Given the description of an element on the screen output the (x, y) to click on. 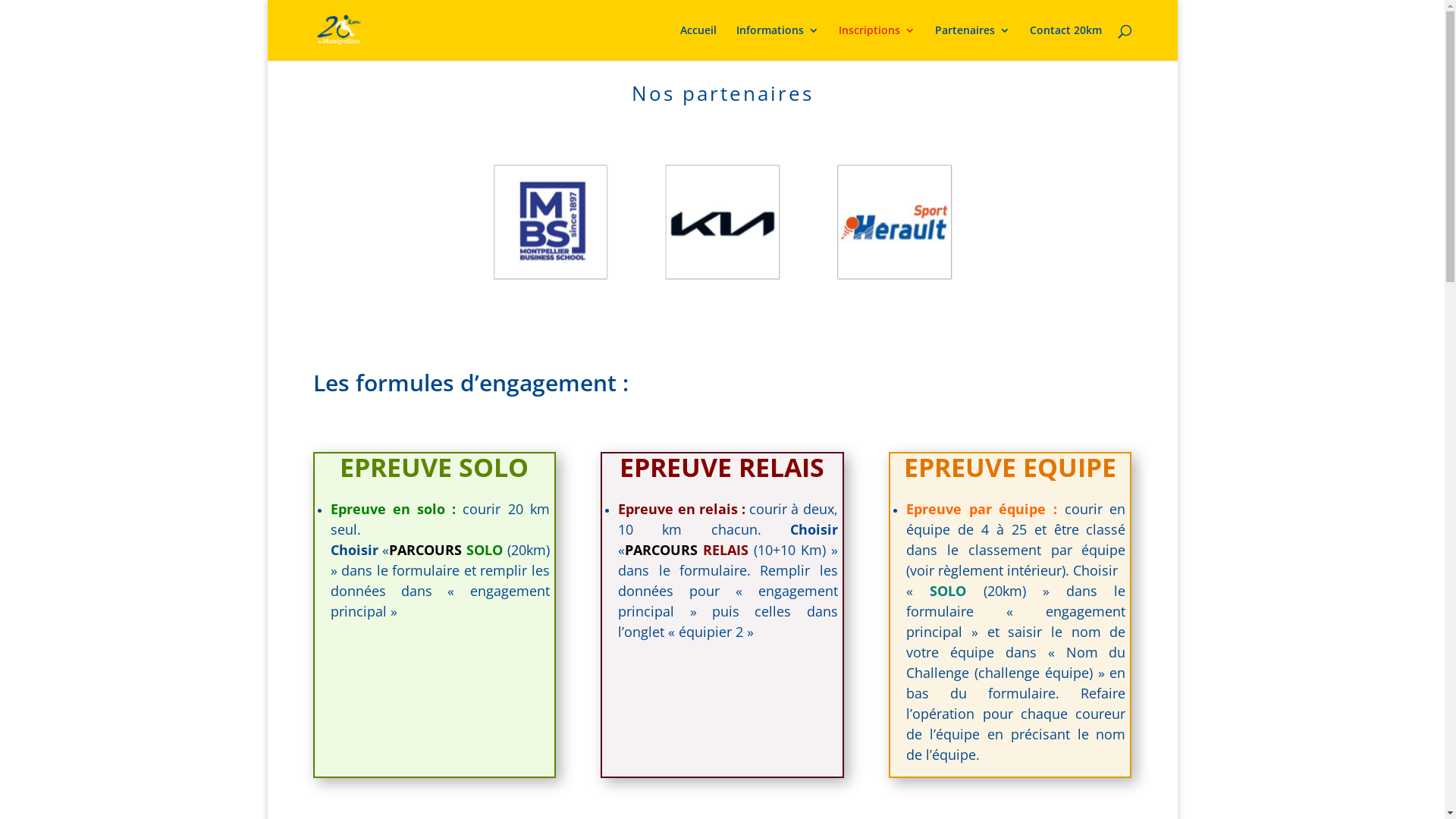
Inscriptions Element type: text (876, 42)
Accueil Element type: text (697, 42)
Partenaires Element type: text (971, 42)
Informations Element type: text (776, 42)
Contact 20km Element type: text (1065, 42)
